Given the description of an element on the screen output the (x, y) to click on. 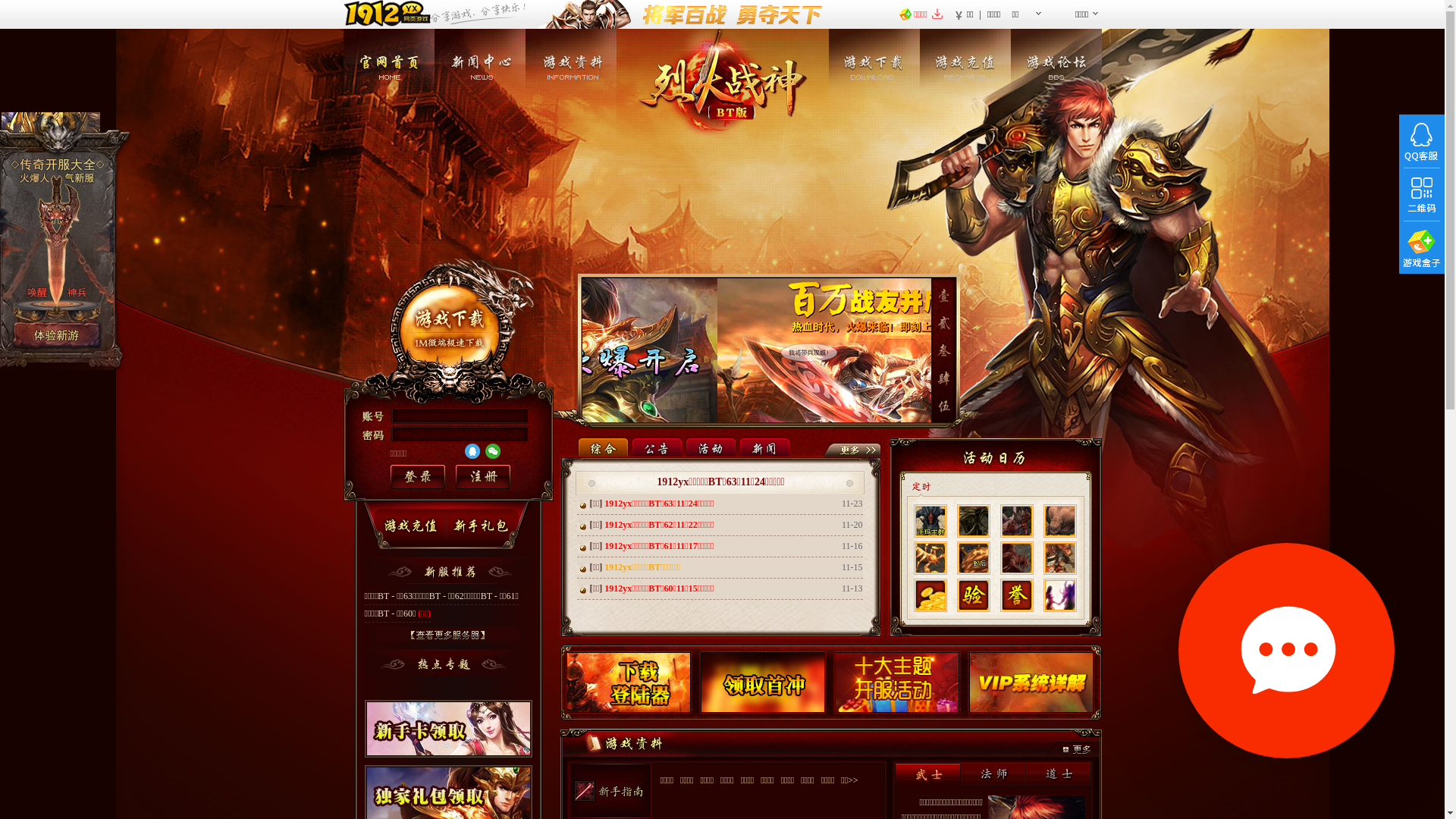
QQ Element type: hover (471, 450)
